Given the description of an element on the screen output the (x, y) to click on. 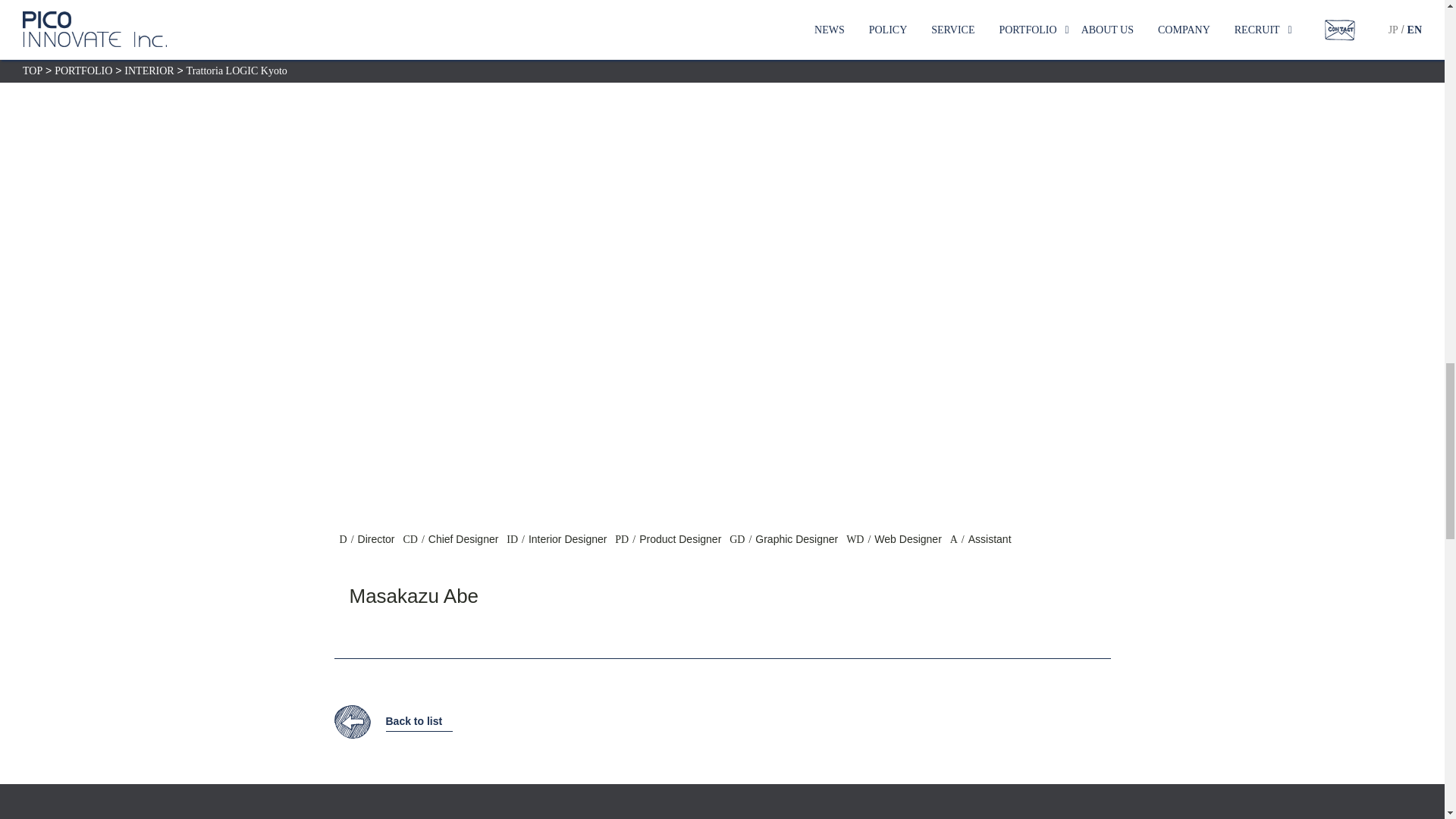
Back to list (392, 721)
